Given the description of an element on the screen output the (x, y) to click on. 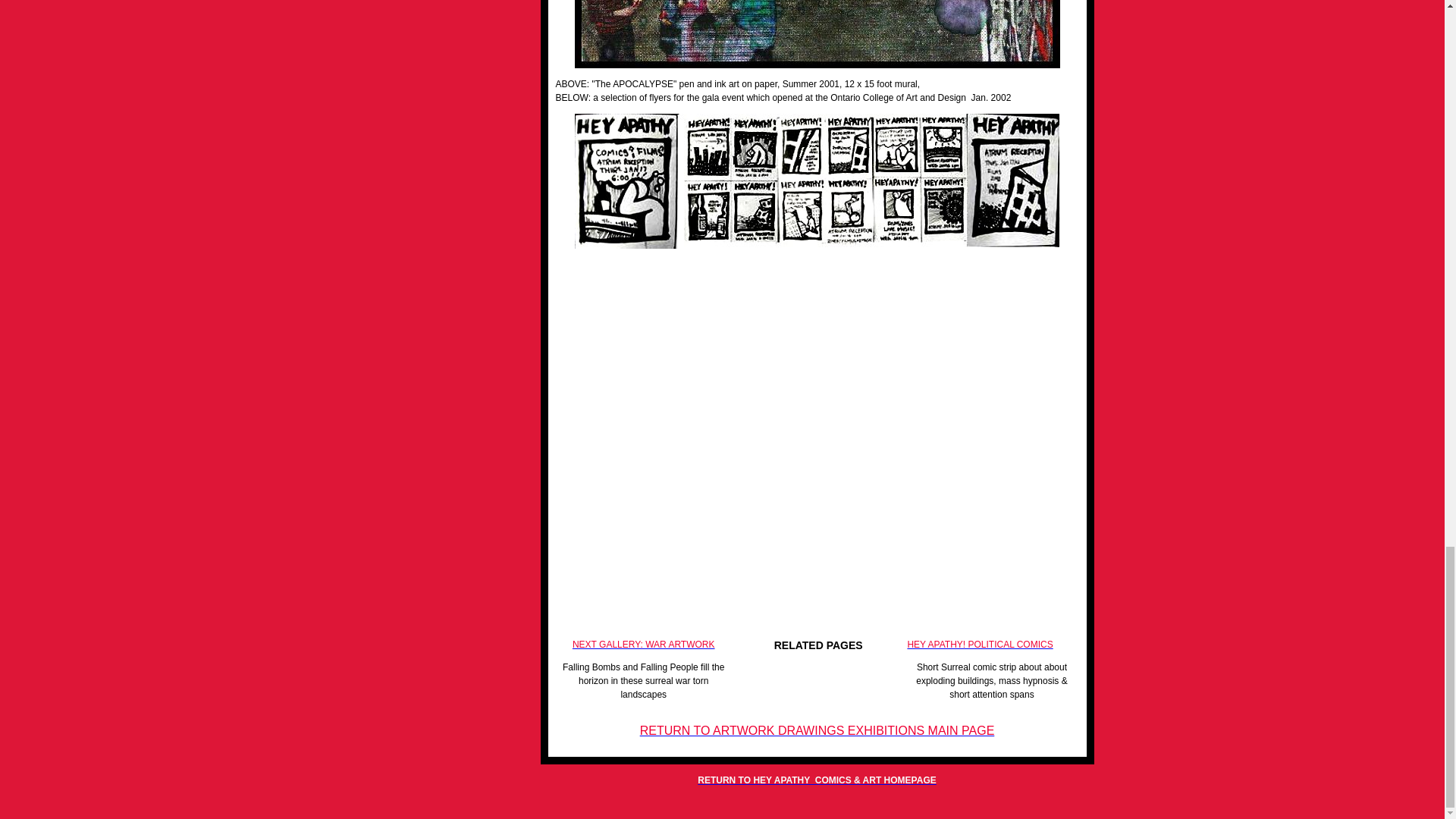
RETURN TO ARTWORK DRAWINGS EXHIBITIONS MAIN PAGE (817, 731)
NEXT GALLERY: WAR ARTWORK (643, 644)
pen and ink art, apocalypse, surrealism (817, 33)
HEY APATHY! POLITICAL COMICS (979, 644)
